Given the description of an element on the screen output the (x, y) to click on. 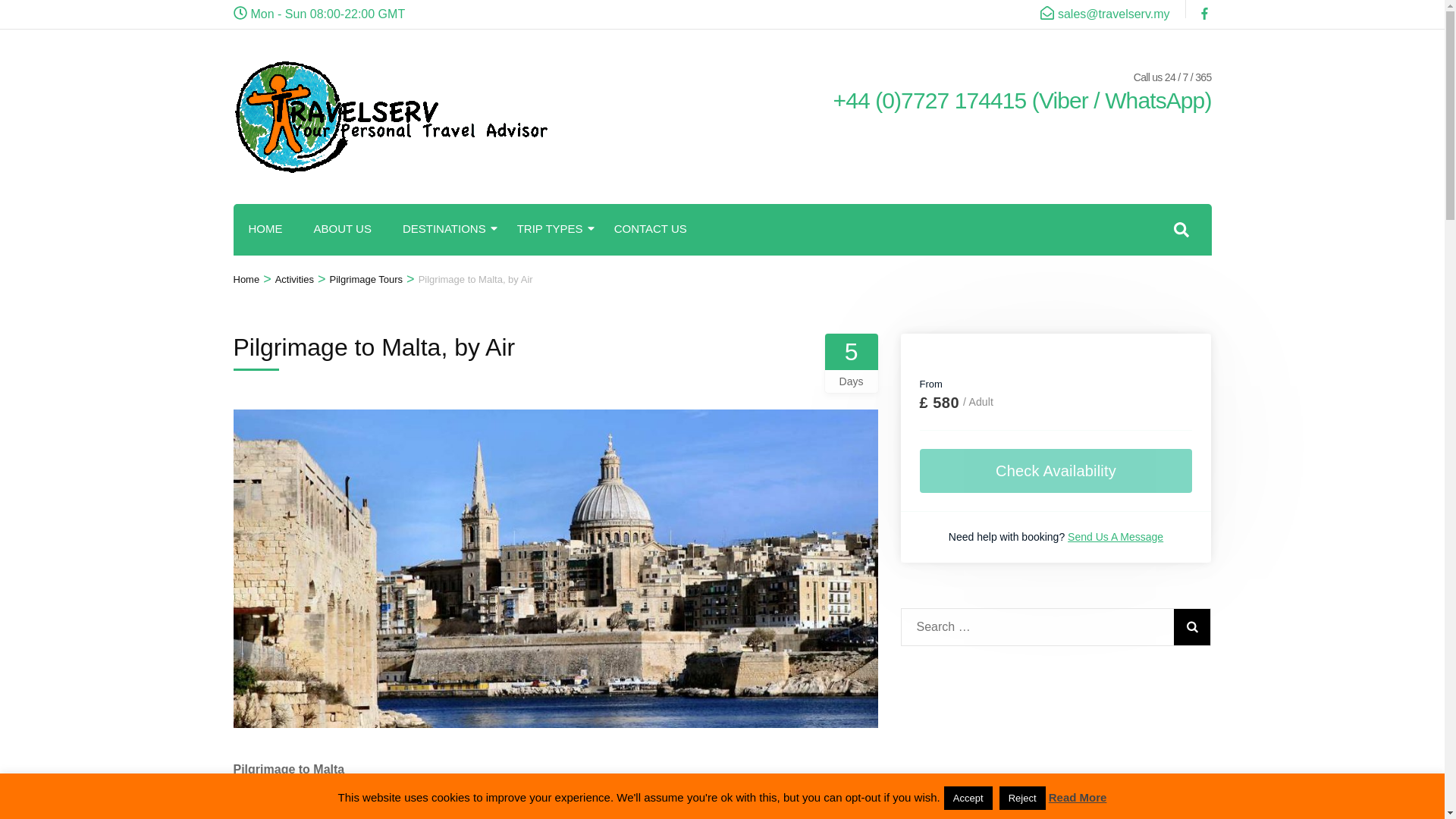
Activities (294, 279)
Home (246, 279)
ABOUT US (342, 229)
Pilgrimage Tours (366, 279)
DESTINATIONS (444, 229)
CONTACT US (650, 229)
TRIP TYPES (549, 229)
Search (1191, 627)
Pilgrimage to Malta, by Air (475, 279)
Search (1191, 627)
Check Availability (1056, 470)
